Given the description of an element on the screen output the (x, y) to click on. 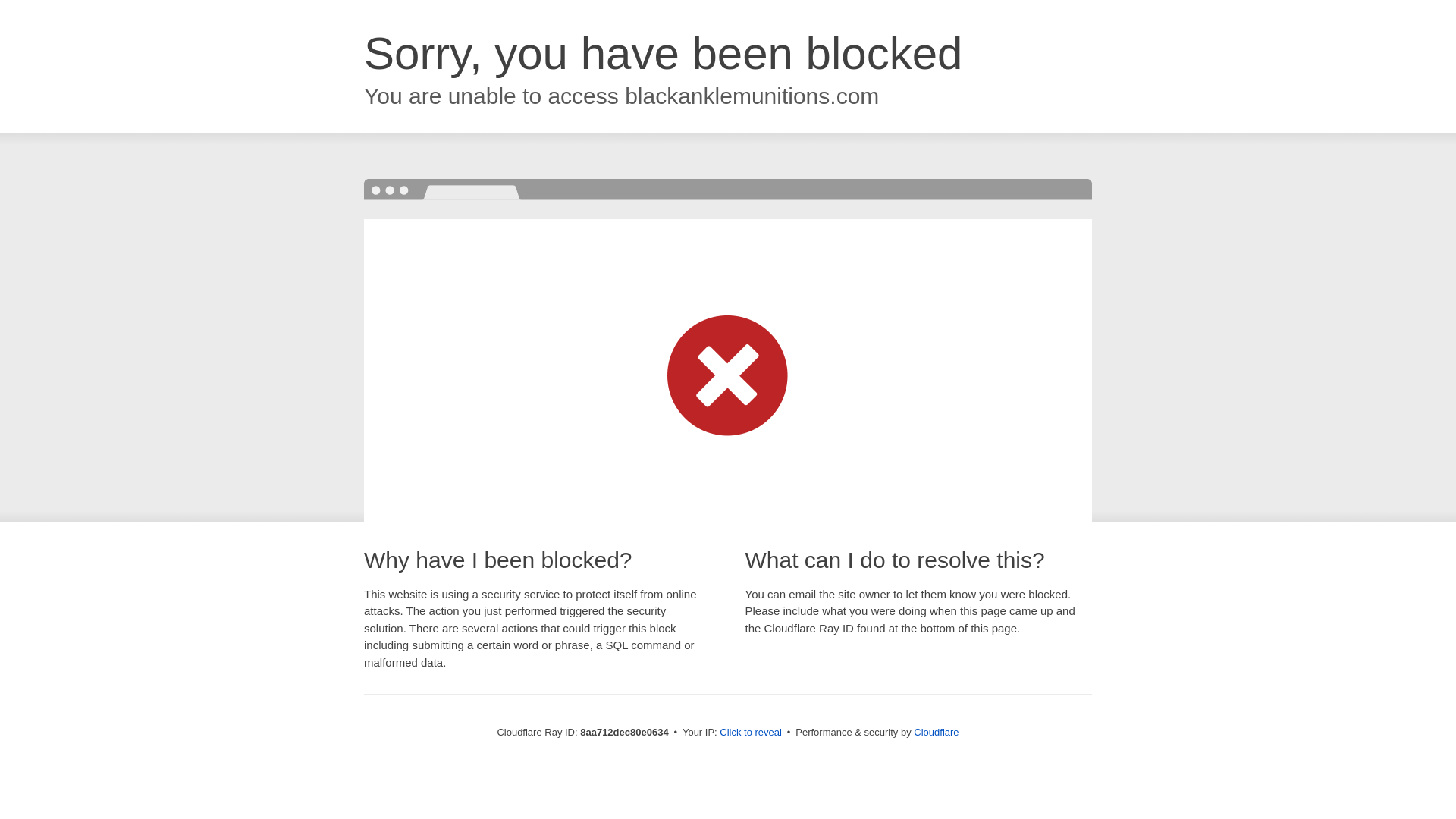
Cloudflare (936, 731)
Click to reveal (750, 732)
